Given the description of an element on the screen output the (x, y) to click on. 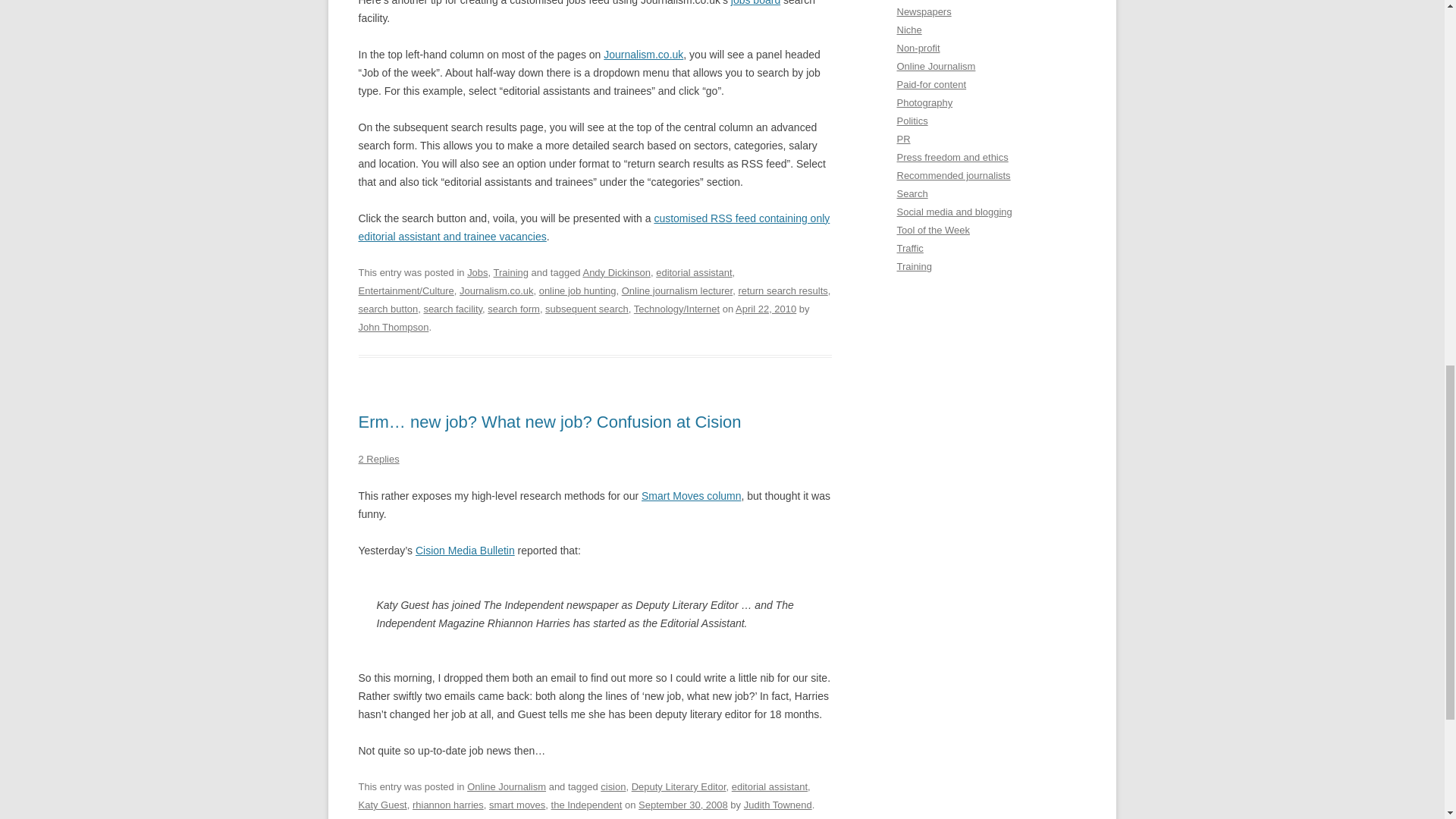
search button (387, 308)
2:53 pm (683, 804)
Journalism.co.uk (496, 290)
subsequent search (586, 308)
online job hunting (576, 290)
April 22, 2010 (765, 308)
Andy Dickinson (616, 272)
RSS feed of editorial assistant and trainee vacancies (593, 227)
return search results (782, 290)
Cision Media Bulletin (464, 550)
editorial assistant (770, 786)
editorial assistant (694, 272)
Jobs (477, 272)
Katy Guest (382, 804)
smart moves (516, 804)
